Given the description of an element on the screen output the (x, y) to click on. 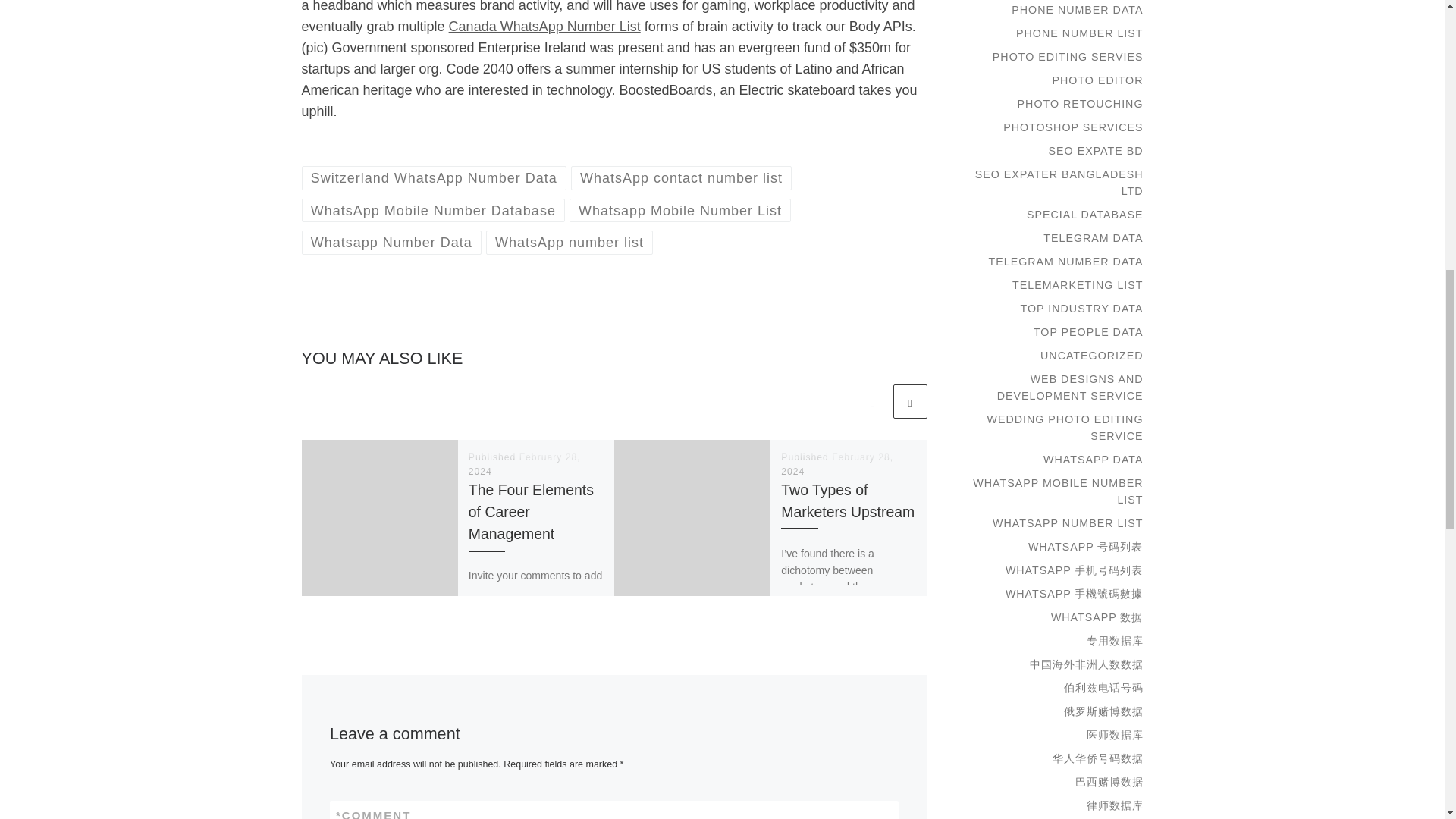
View all posts in Whatsapp Mobile Number List (680, 210)
Canada WhatsApp Number List (544, 26)
Whatsapp Mobile Number List (680, 210)
Whatsapp Number Data (391, 241)
The Four Elements of Career Management (531, 511)
View all posts in Switzerland WhatsApp Number Data (434, 177)
WhatsApp number list (569, 241)
View all posts in WhatsApp contact number list (681, 177)
Previous related articles (872, 401)
View all posts in WhatsApp Mobile Number Database (433, 210)
